Given the description of an element on the screen output the (x, y) to click on. 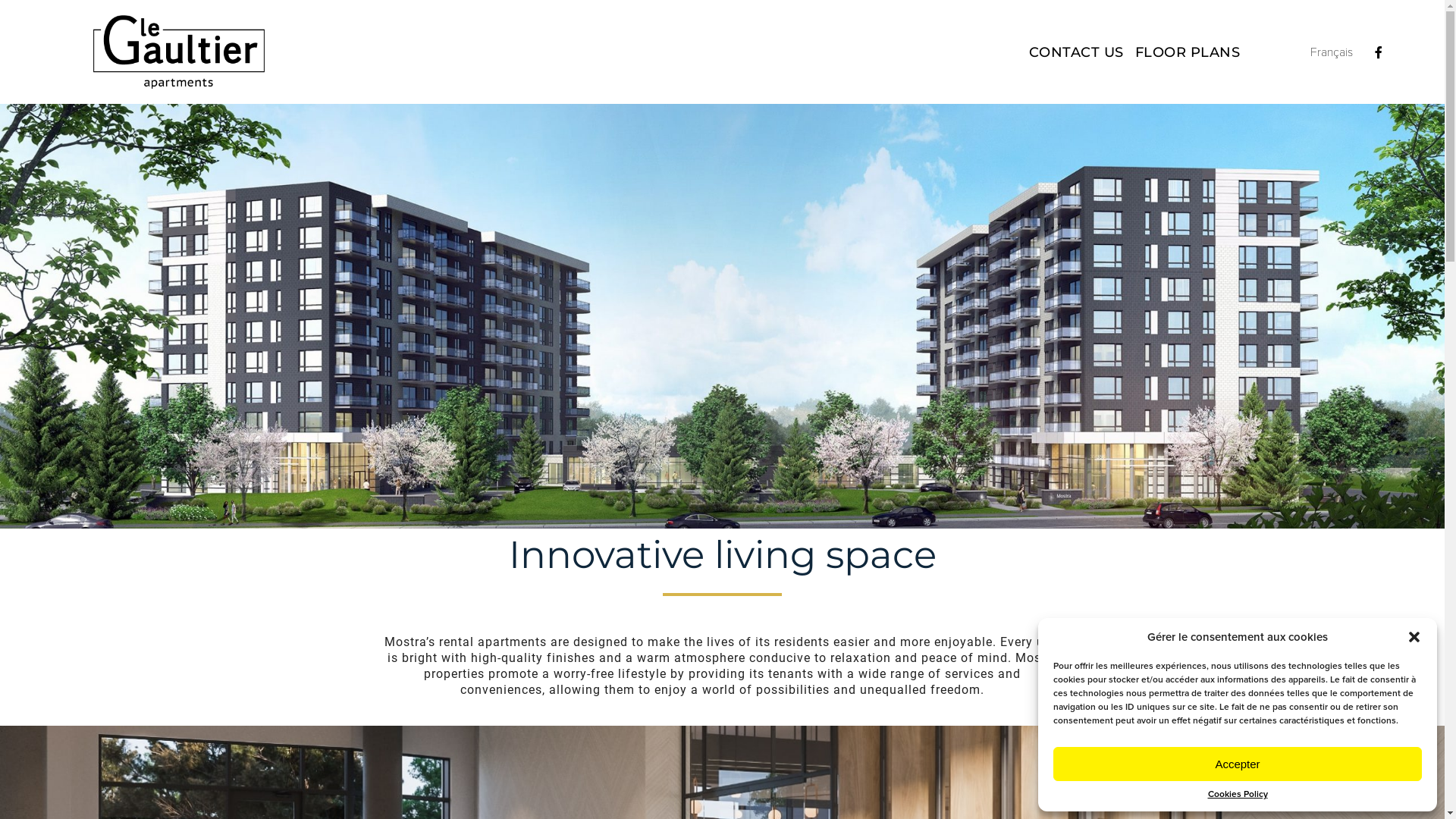
CONTACT US Element type: text (1076, 52)
Accepter Element type: text (1237, 763)
Join our VIP list Element type: text (1395, 769)
Cookies Policy Element type: text (1237, 794)
FLOOR PLANS Element type: text (1187, 52)
